Given the description of an element on the screen output the (x, y) to click on. 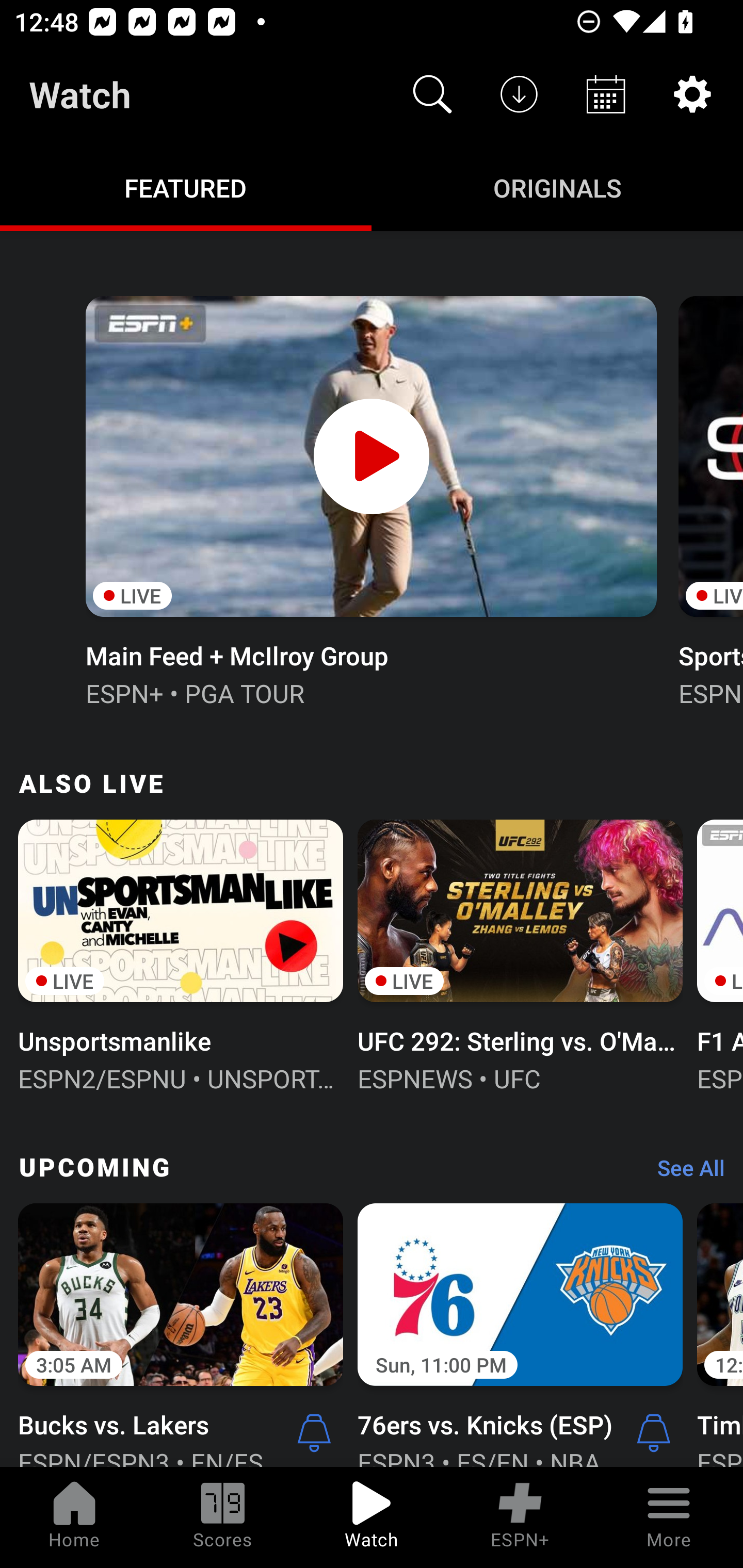
Search (432, 93)
Downloads (518, 93)
Schedule (605, 93)
Settings (692, 93)
Originals ORIGINALS (557, 187)
 LIVE Main Feed + McIlroy Group ESPN+ • PGA TOUR (370, 499)
LIVE UFC 292: Sterling vs. O'Malley ESPNEWS • UFC (519, 954)
See All (683, 1172)
Alerts (314, 1432)
Alerts (653, 1432)
Home (74, 1517)
Scores (222, 1517)
ESPN+ (519, 1517)
More (668, 1517)
